Given the description of an element on the screen output the (x, y) to click on. 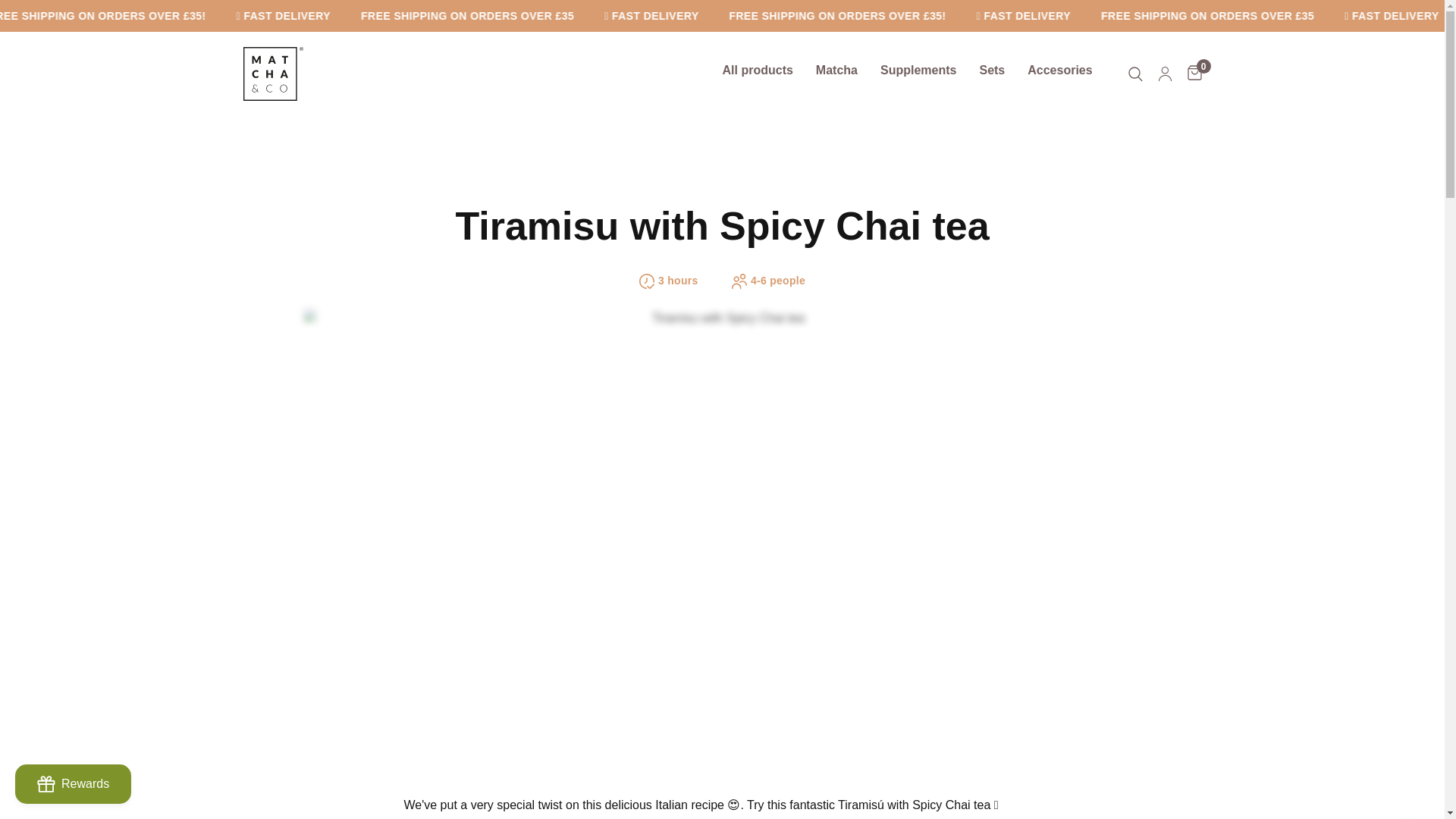
Accesories (1059, 70)
All products (757, 70)
Matcha (836, 70)
Sets (991, 70)
Sets (991, 70)
All products (757, 70)
Accesories (1059, 70)
Supplements (918, 70)
Matcha (836, 70)
Supplements (918, 70)
